Given the description of an element on the screen output the (x, y) to click on. 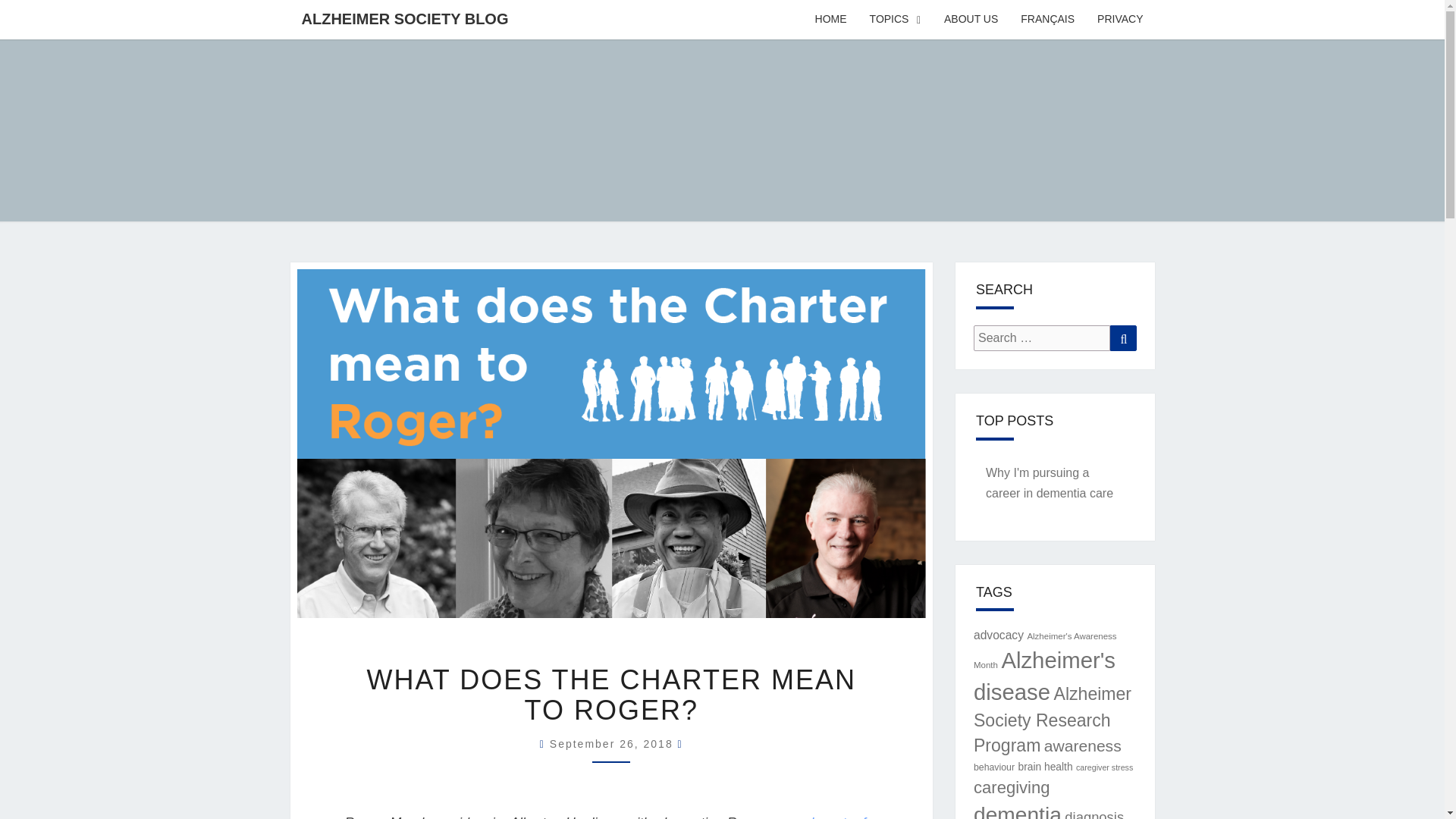
PRIVACY (1120, 19)
6:15 am (614, 743)
HOME (831, 19)
ALZHEIMER SOCIETY BLOG (404, 18)
ABOUT US (971, 19)
Search for: (1041, 338)
TOPICS (896, 19)
September 26, 2018 (614, 743)
